Given the description of an element on the screen output the (x, y) to click on. 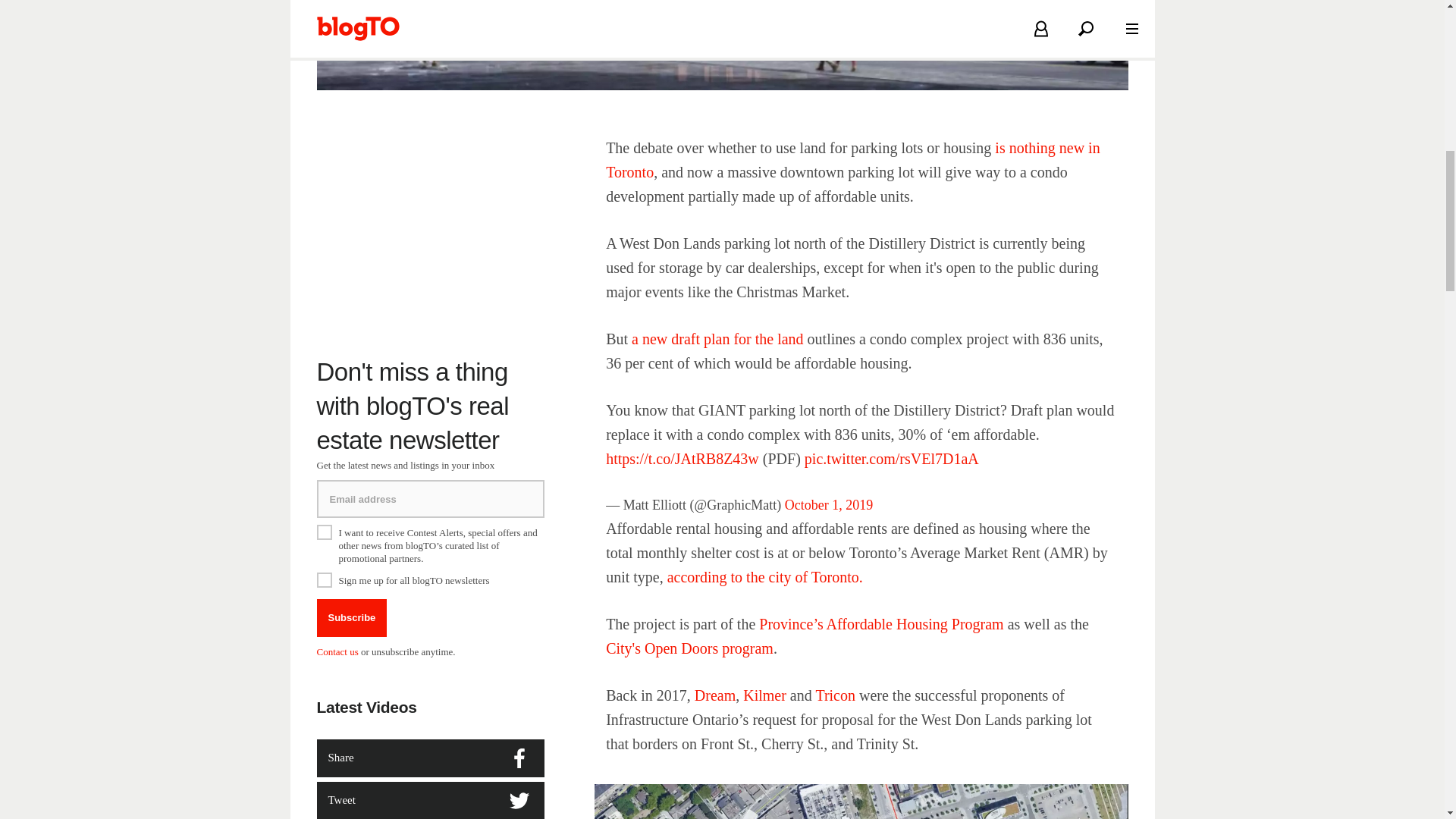
Subscribe (352, 617)
